Given the description of an element on the screen output the (x, y) to click on. 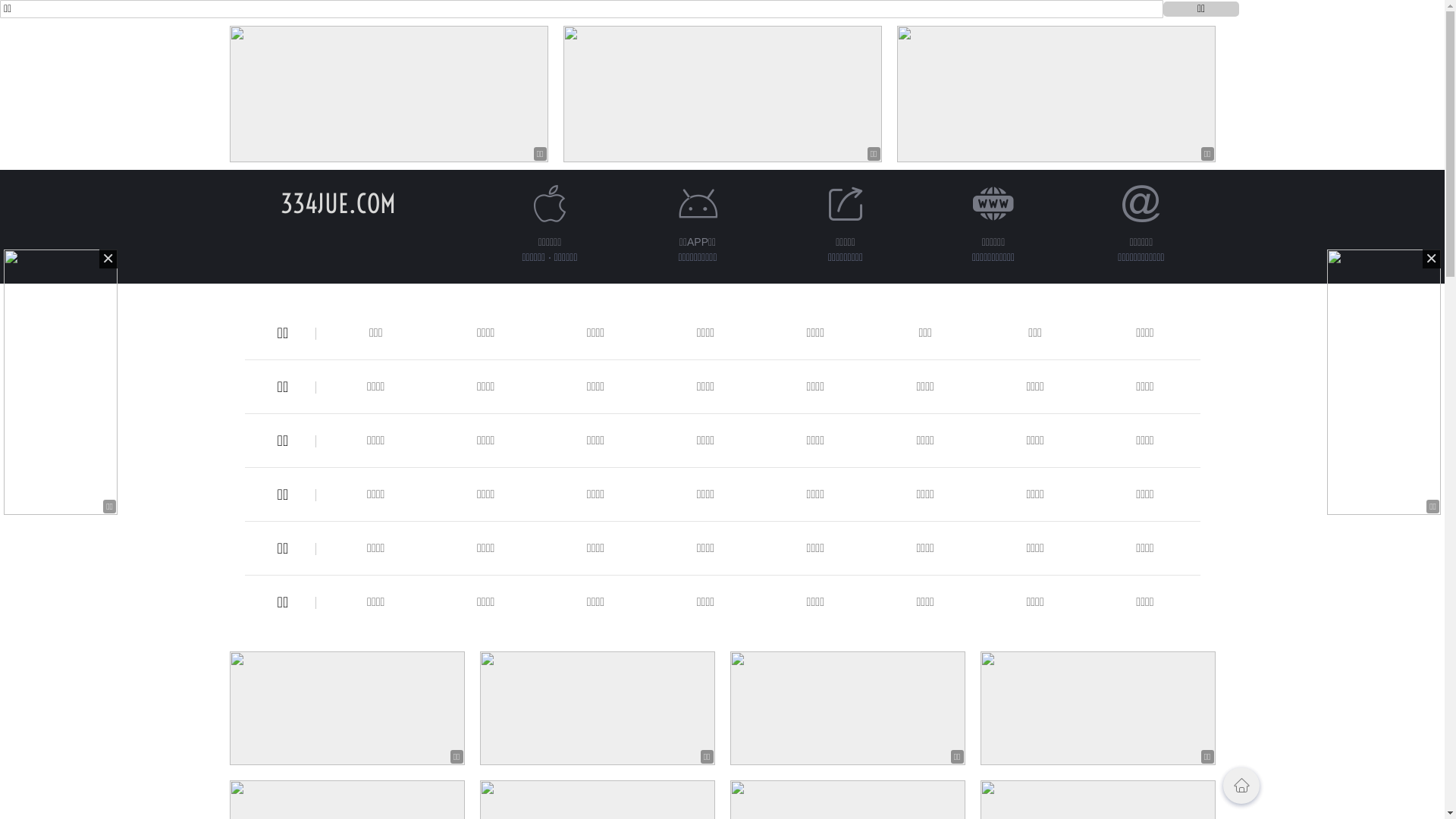
334JUE.COM Element type: text (337, 203)
